Given the description of an element on the screen output the (x, y) to click on. 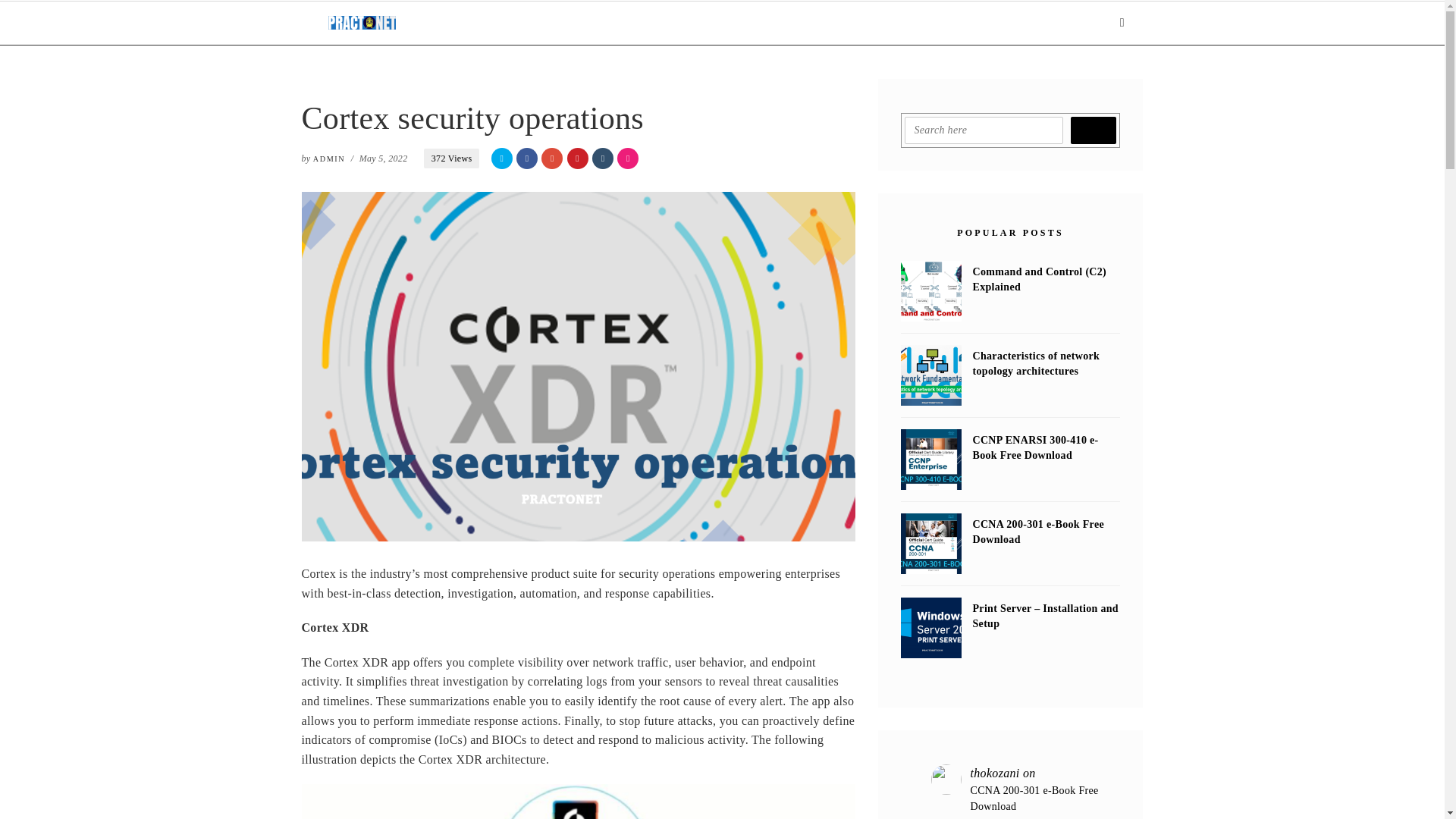
Characteristics of network topology architectures (930, 374)
ICTKB.COM (918, 22)
HOME (510, 22)
CCNP ENARSI 300-410 e-Book Free Download (930, 459)
COURSES (620, 22)
CONTACT US (832, 22)
RESOURCES (745, 22)
CCNA 200-301 e-Book Free Download (930, 543)
ADMIN (329, 158)
QUIZ (679, 22)
Cyber Security, Networking, Technology Courses and Blog (361, 22)
BLOG (561, 22)
